Given the description of an element on the screen output the (x, y) to click on. 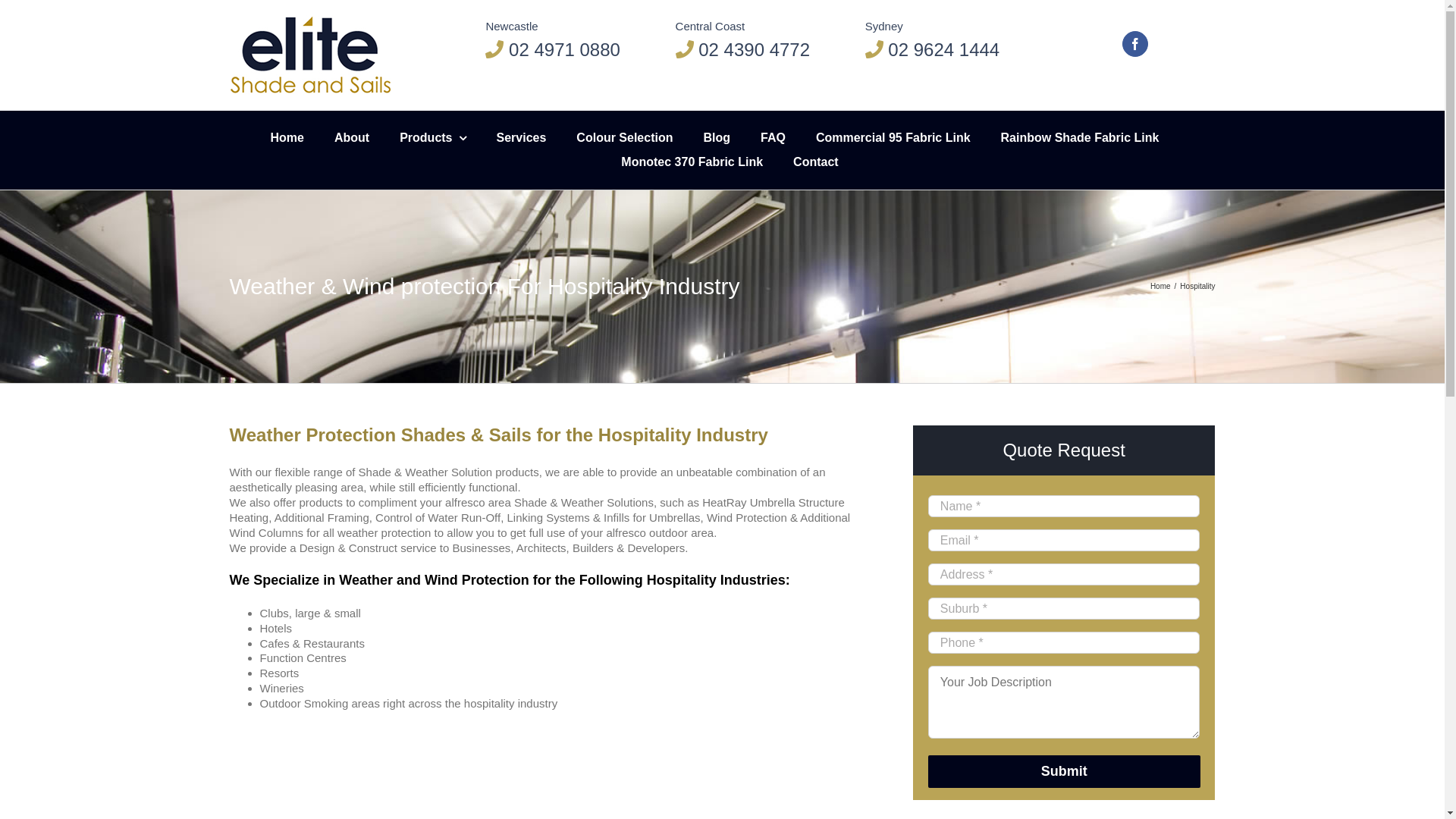
Monotec 370 Fabric Link Element type: text (691, 161)
FAQ Element type: text (772, 137)
Submit Element type: text (1064, 771)
Facebook Element type: hover (1135, 43)
Commercial 95 Fabric Link Element type: text (892, 137)
Home Element type: text (1160, 286)
Services Element type: text (521, 137)
Contact Element type: text (815, 161)
Home Element type: text (287, 137)
Rainbow Shade Fabric Link Element type: text (1080, 137)
Colour Selection Element type: text (624, 137)
Blog Element type: text (716, 137)
Products Element type: text (432, 137)
About Element type: text (351, 137)
